Given the description of an element on the screen output the (x, y) to click on. 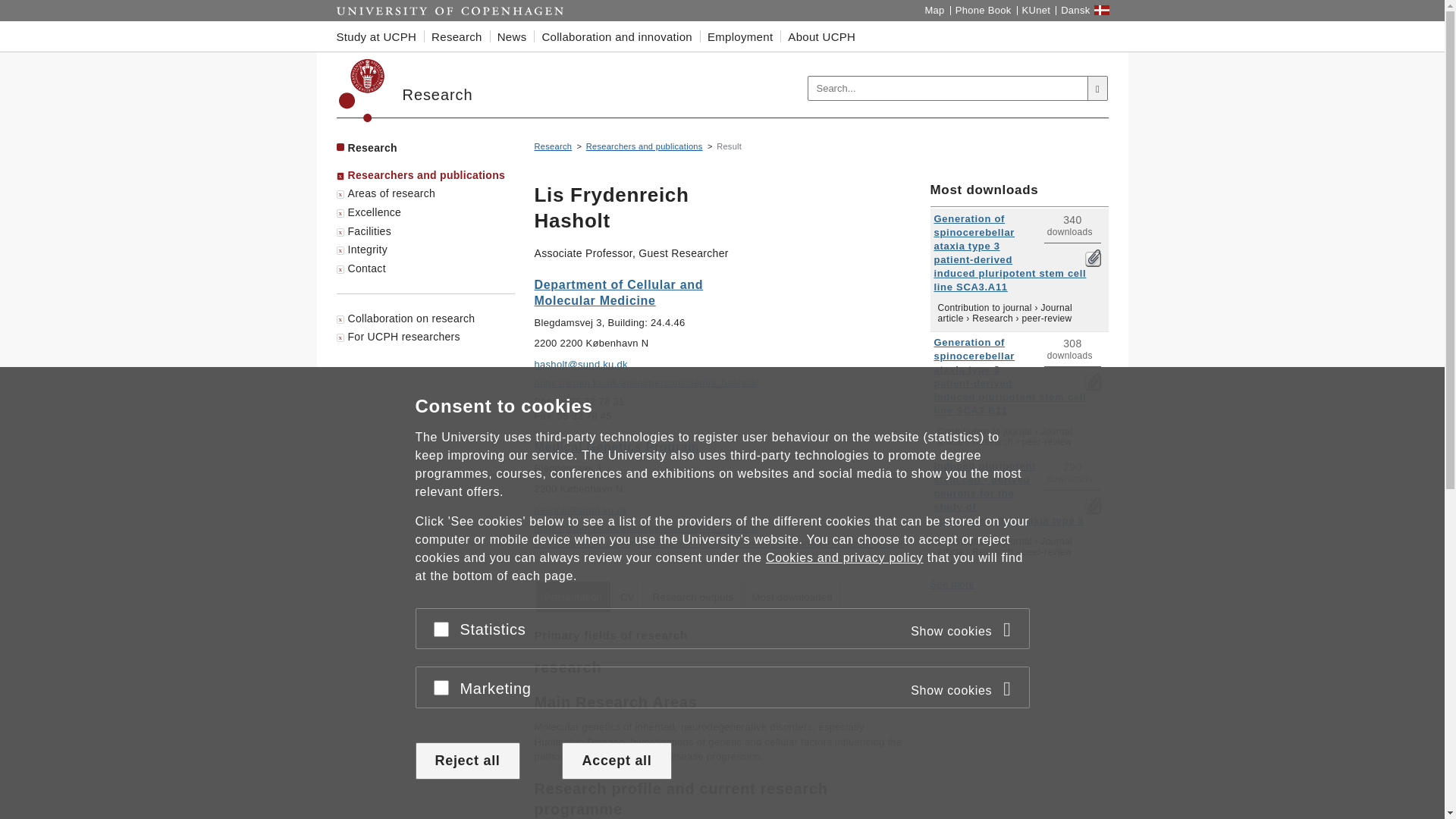
1 (1092, 505)
1 (1092, 257)
Start (450, 10)
Search researchers and publications (644, 145)
1 (1092, 381)
